Given the description of an element on the screen output the (x, y) to click on. 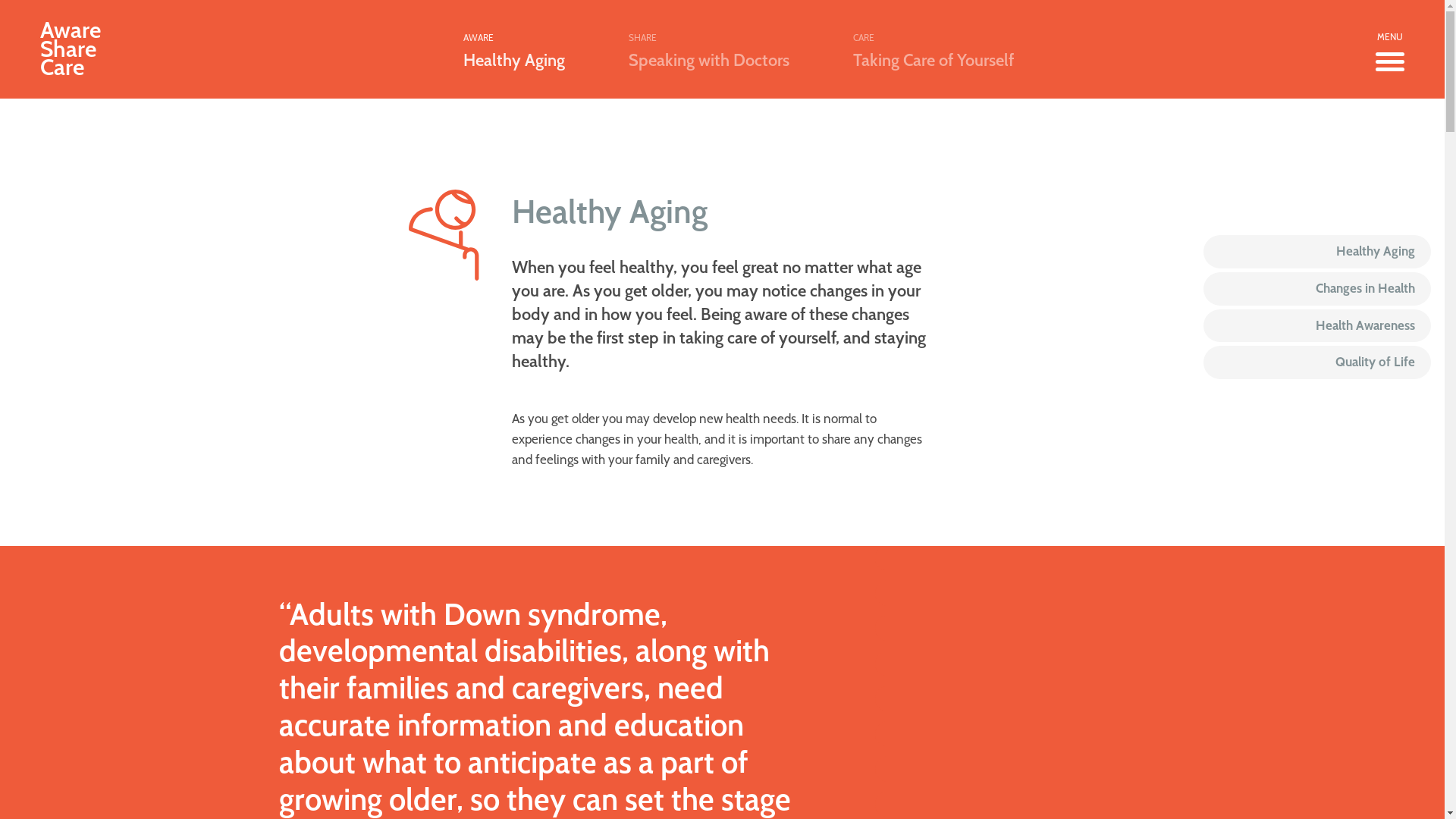
Aware
Share
Care Element type: text (70, 49)
SHARE
Speaking with Doctors Element type: text (708, 49)
CARE
Taking Care of Yourself Element type: text (932, 49)
Healthy Aging Element type: text (1316, 251)
Health Awareness Element type: text (1316, 325)
Quality of Life Element type: text (1316, 362)
Changes in Health Element type: text (1316, 288)
AWARE
Healthy Aging Element type: text (512, 49)
